Given the description of an element on the screen output the (x, y) to click on. 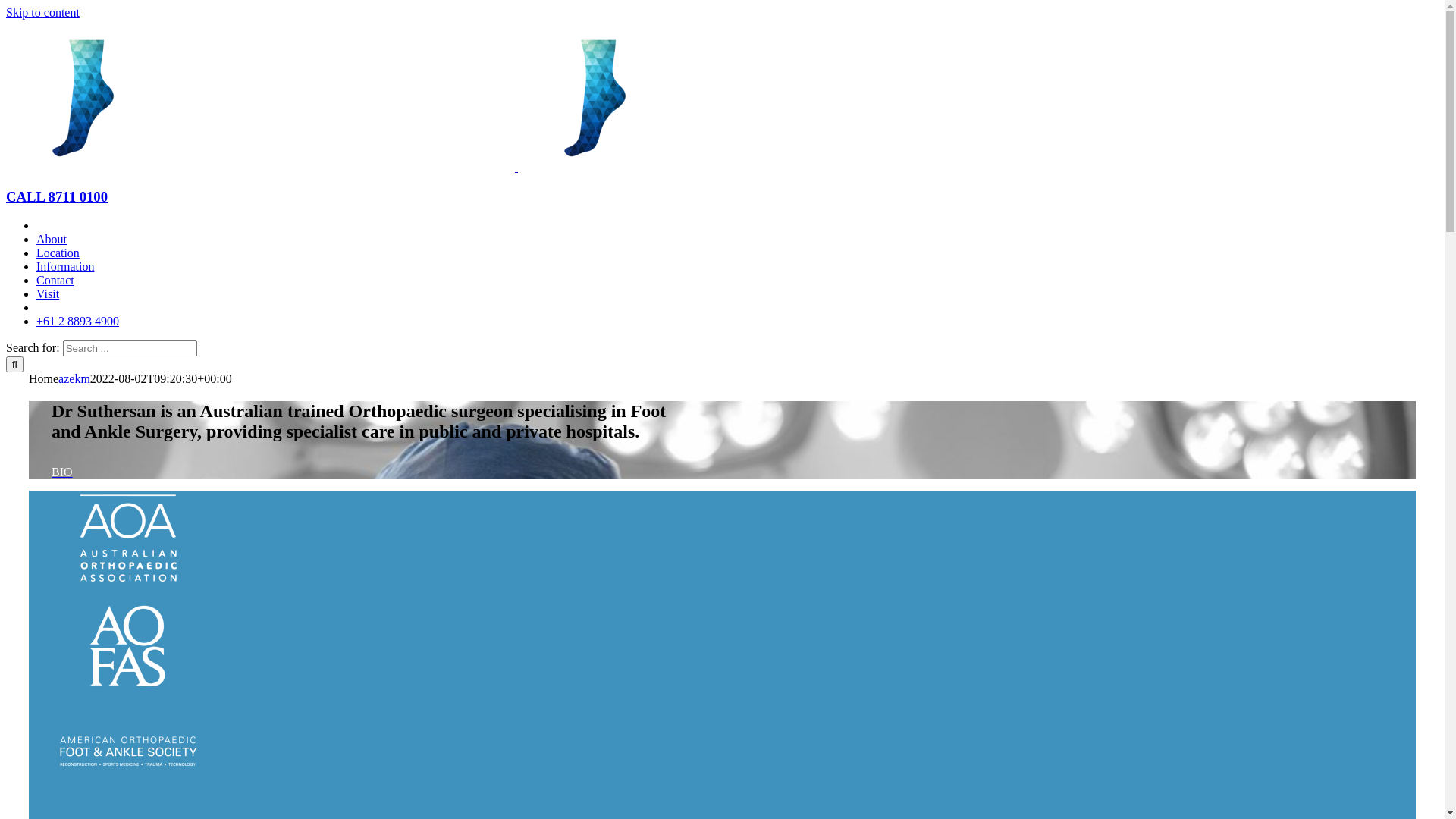
AOA_Logo Element type: hover (127, 541)
AOAFAS2 Element type: hover (127, 646)
Visit Element type: text (47, 293)
BIO Element type: text (61, 471)
+61 2 8893 4900 Element type: text (77, 320)
Contact Element type: text (55, 279)
AOFAS Element type: hover (127, 752)
Skip to content Element type: text (42, 12)
Information Element type: text (65, 266)
azekm Element type: text (74, 378)
CALL 8711 0100 Element type: text (56, 196)
Location Element type: text (57, 252)
About Element type: text (51, 238)
